Given the description of an element on the screen output the (x, y) to click on. 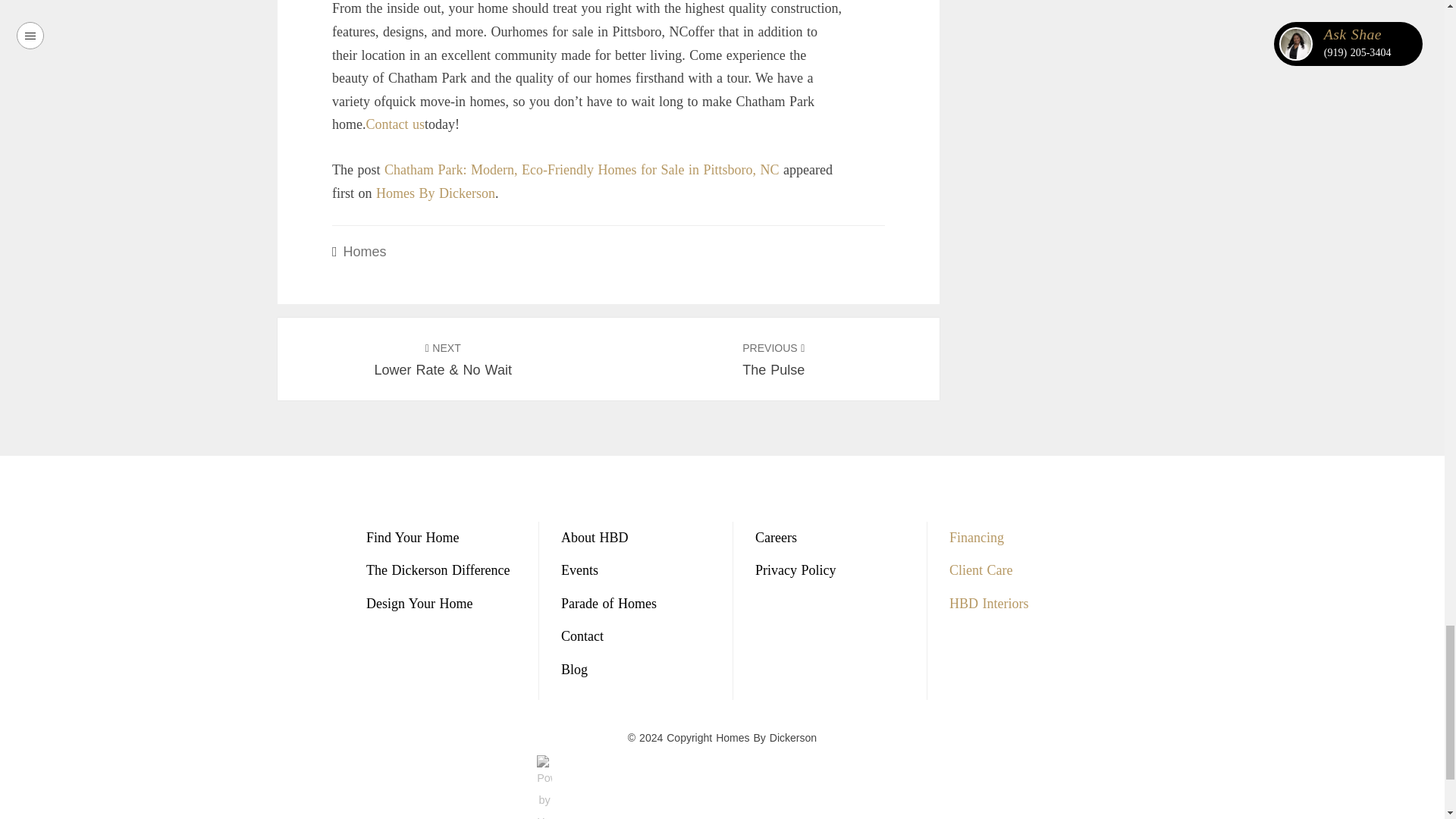
Contact us (774, 358)
Homes By Dickerson (395, 124)
Homes (435, 192)
